Given the description of an element on the screen output the (x, y) to click on. 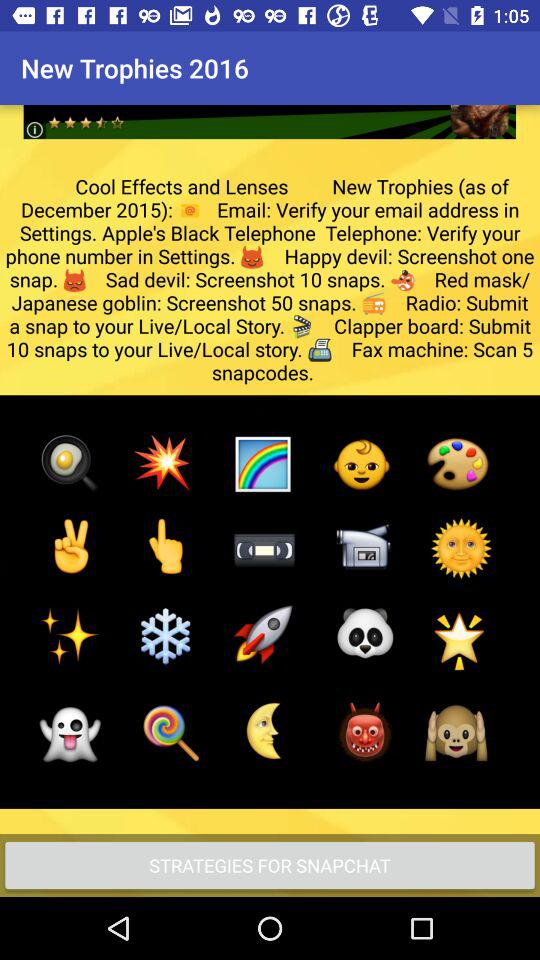
give rating (269, 106)
